Given the description of an element on the screen output the (x, y) to click on. 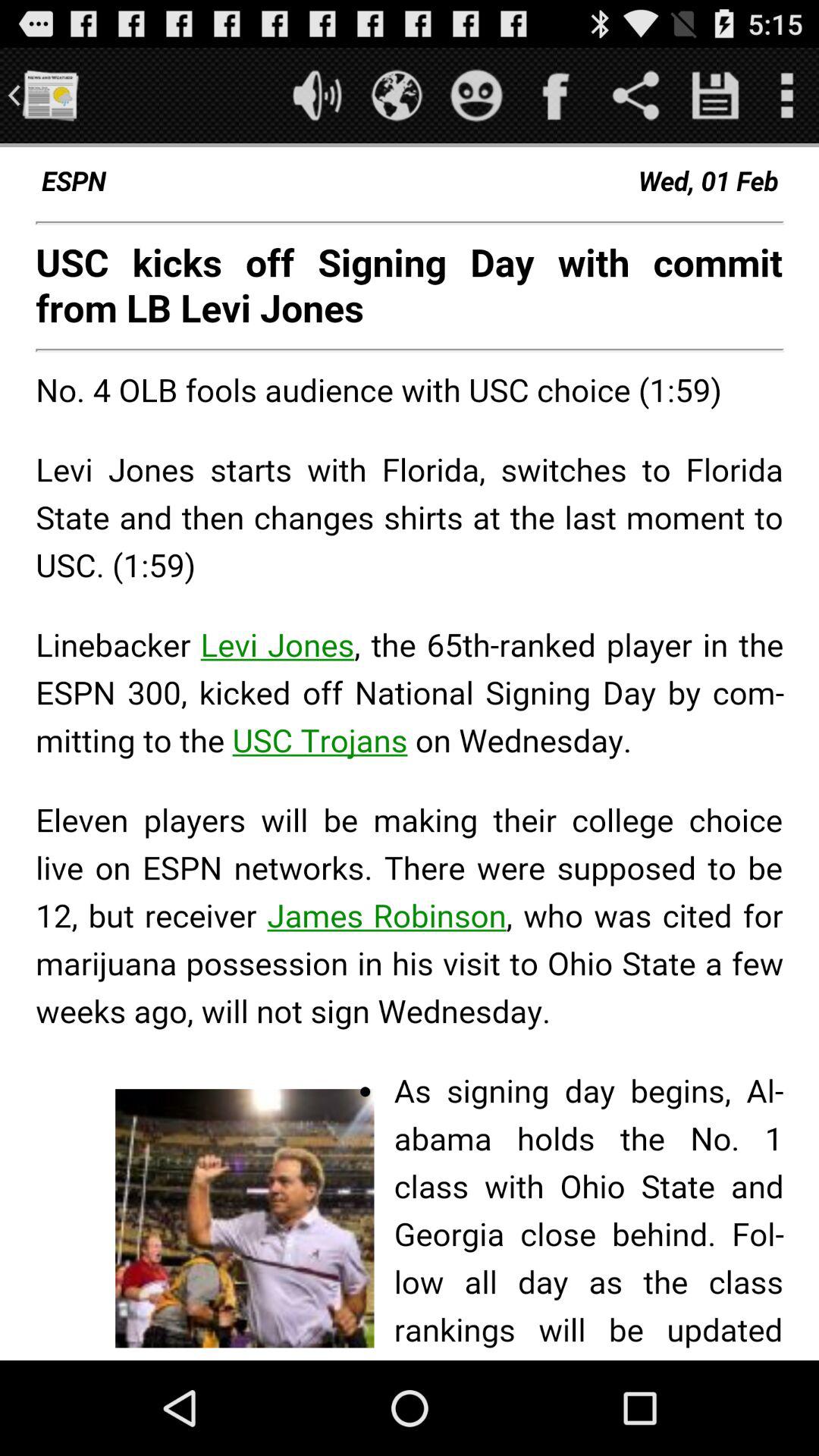
save information (715, 95)
